Given the description of an element on the screen output the (x, y) to click on. 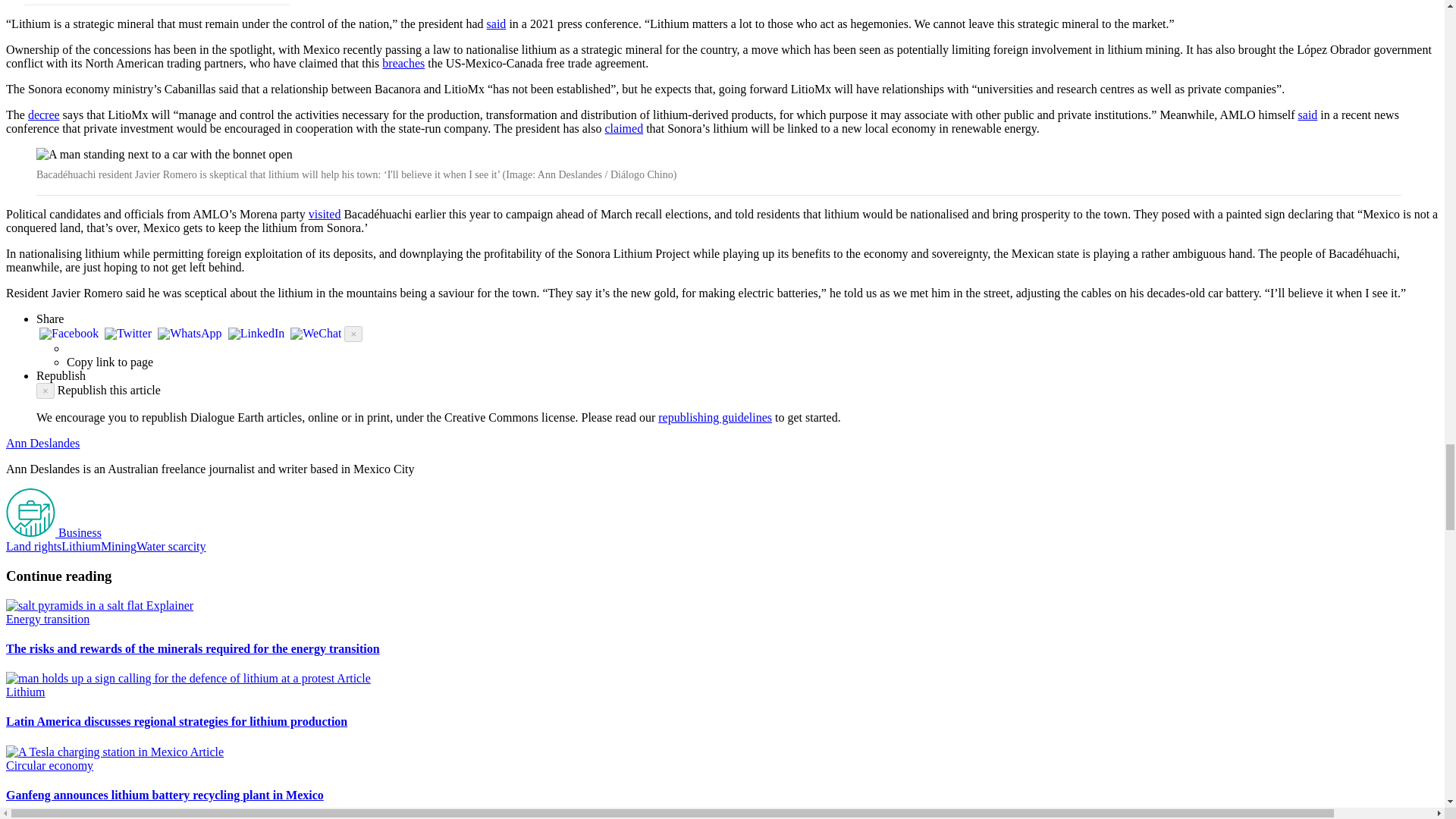
Facebook (68, 334)
